Given the description of an element on the screen output the (x, y) to click on. 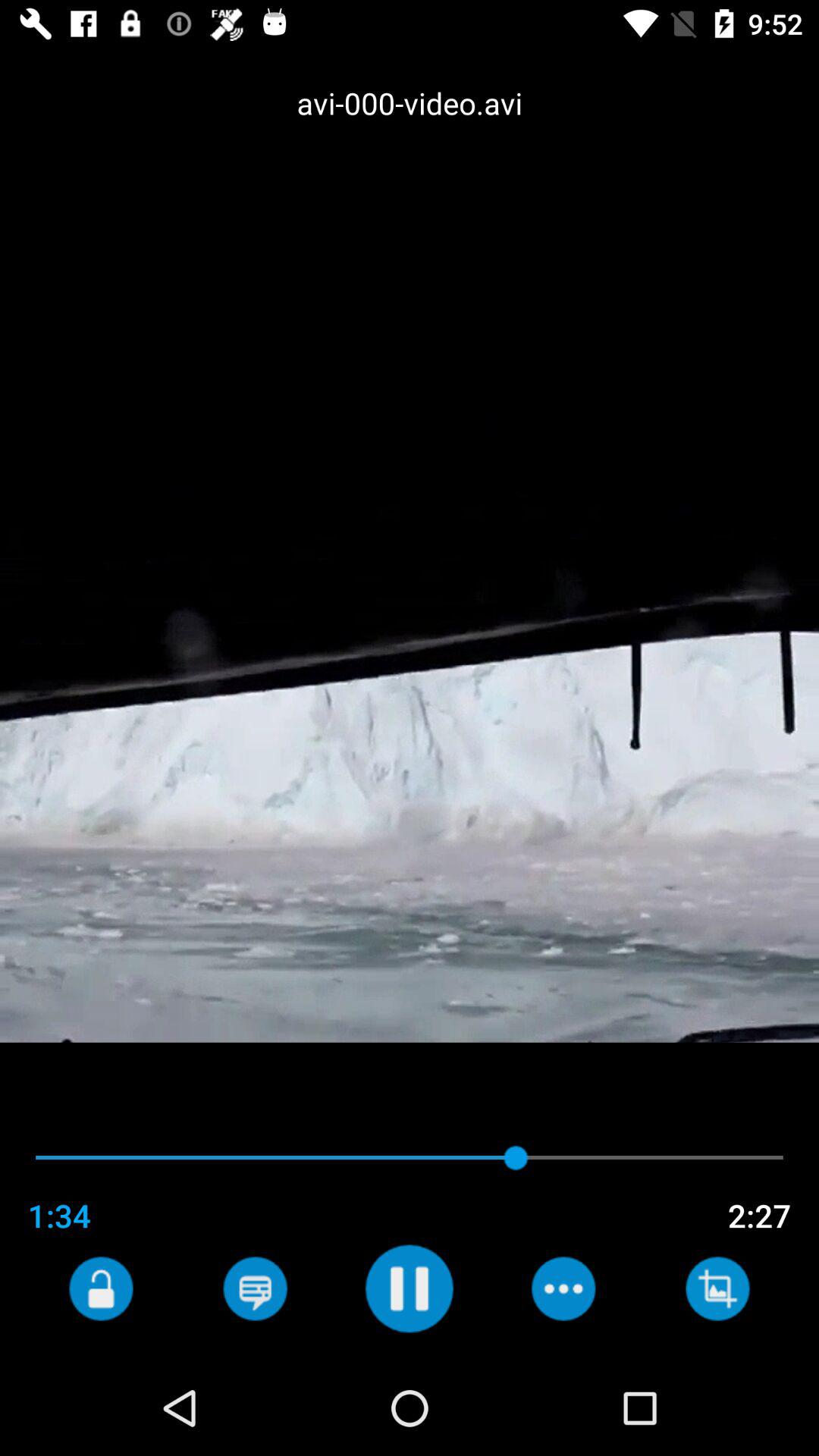
resize video (717, 1288)
